Given the description of an element on the screen output the (x, y) to click on. 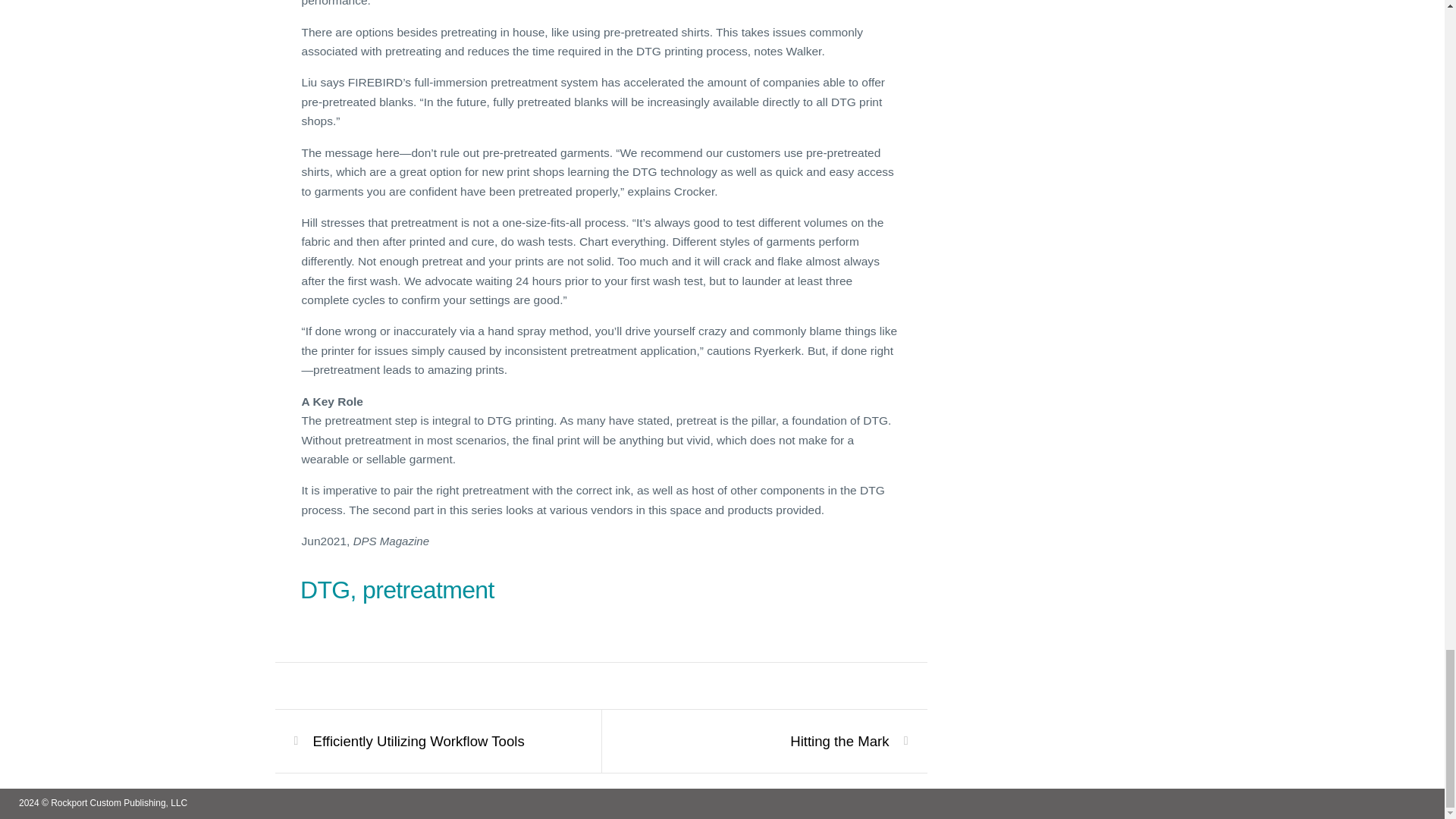
Next (839, 741)
Hitting the Mark (839, 741)
Efficiently Utilizing Workflow Tools (418, 741)
Previous (418, 741)
